Given the description of an element on the screen output the (x, y) to click on. 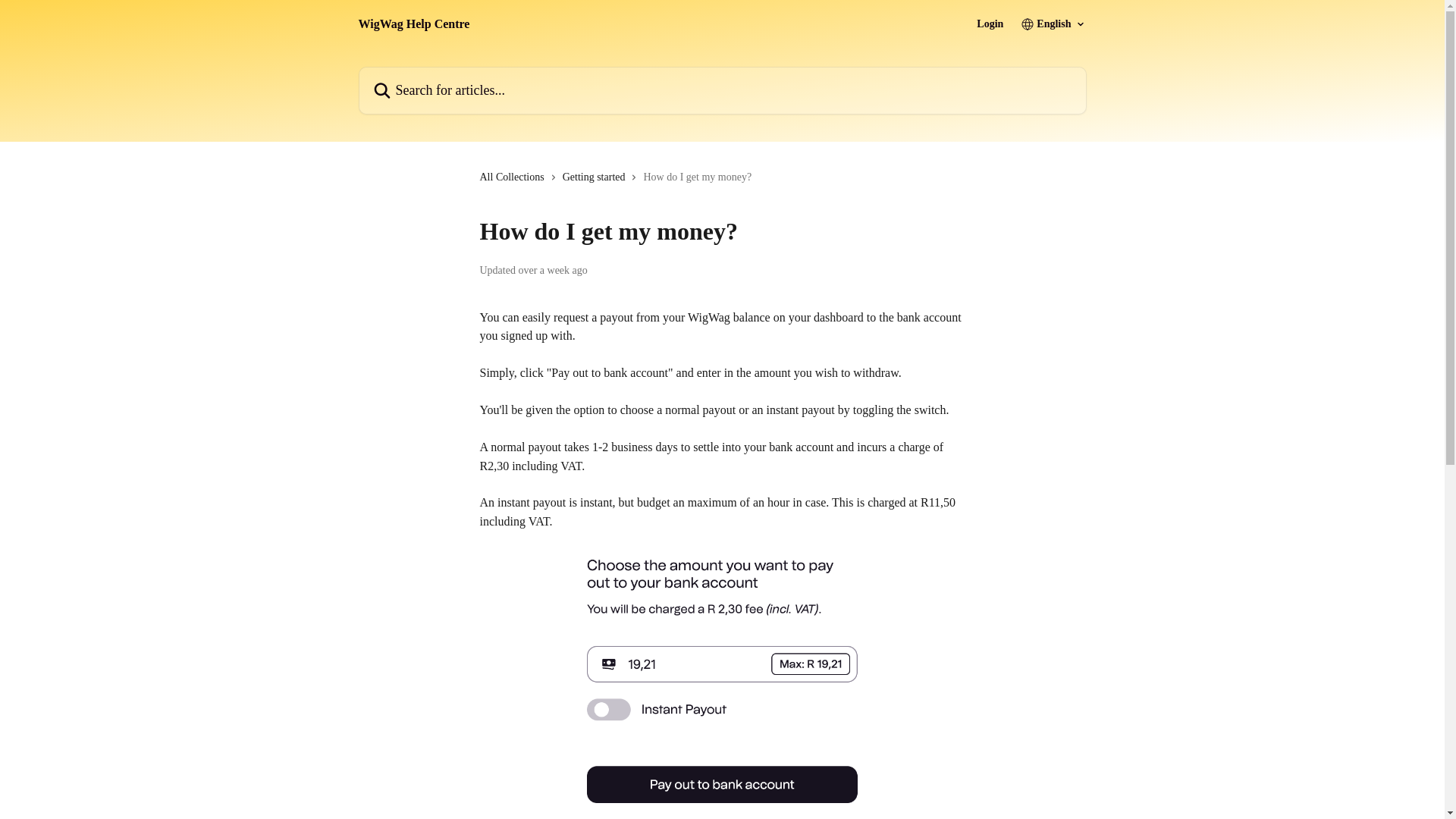
All Collections (514, 176)
Getting started (596, 176)
Login (989, 23)
